Given the description of an element on the screen output the (x, y) to click on. 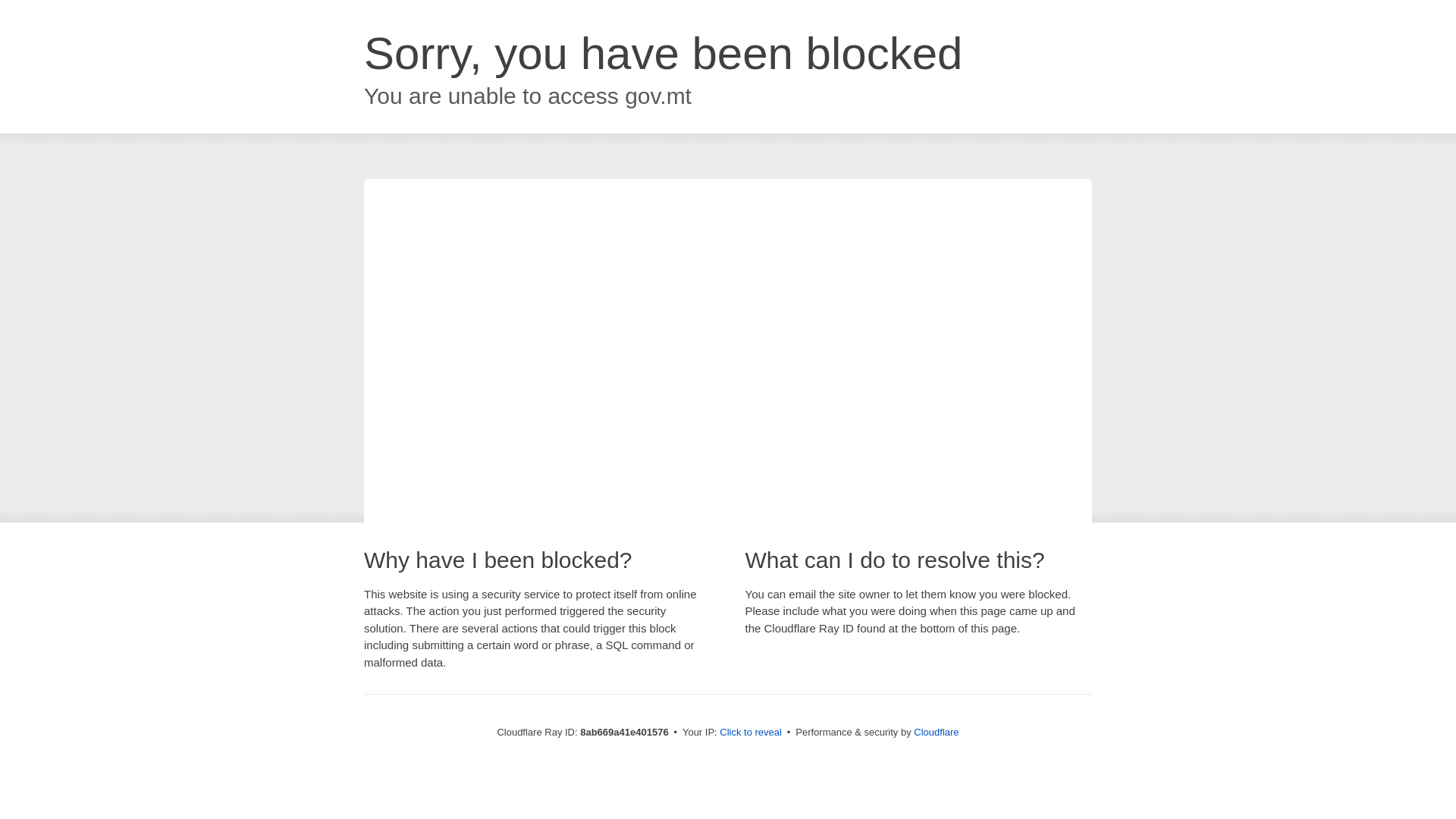
Click to reveal (750, 732)
Cloudflare (936, 731)
